Given the description of an element on the screen output the (x, y) to click on. 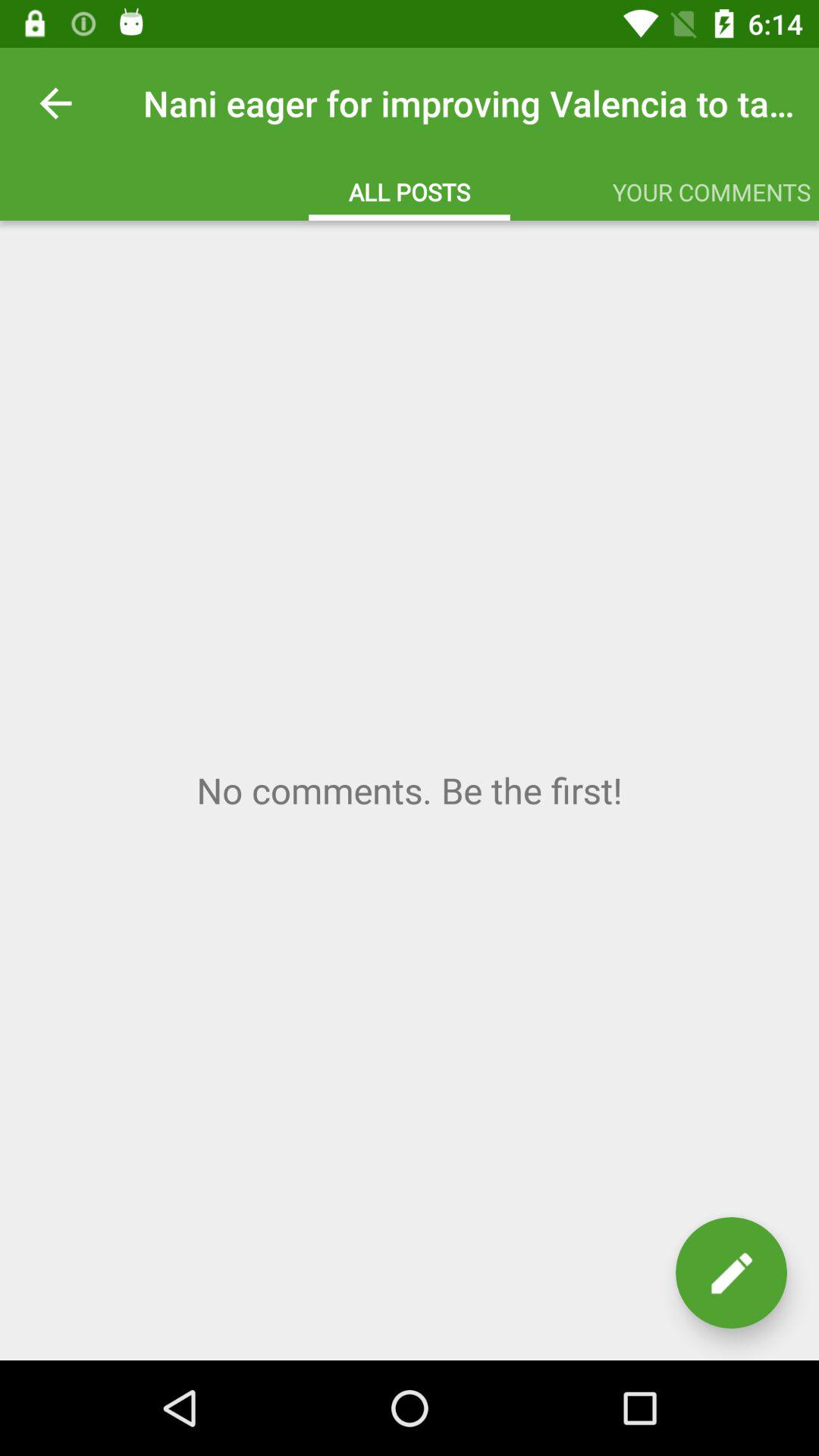
choose icon at the top left corner (55, 103)
